Given the description of an element on the screen output the (x, y) to click on. 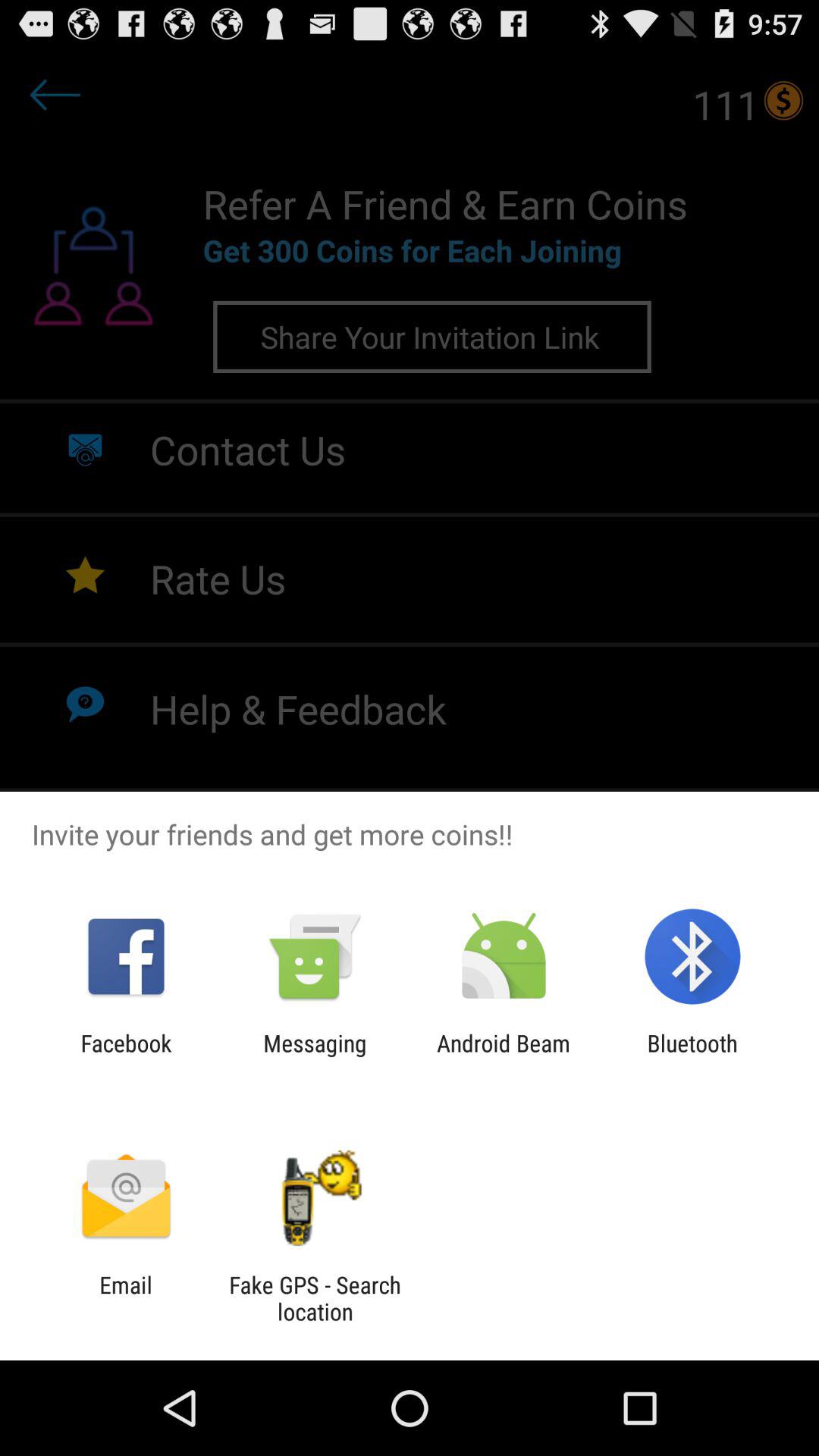
turn on the app next to the android beam item (314, 1056)
